Given the description of an element on the screen output the (x, y) to click on. 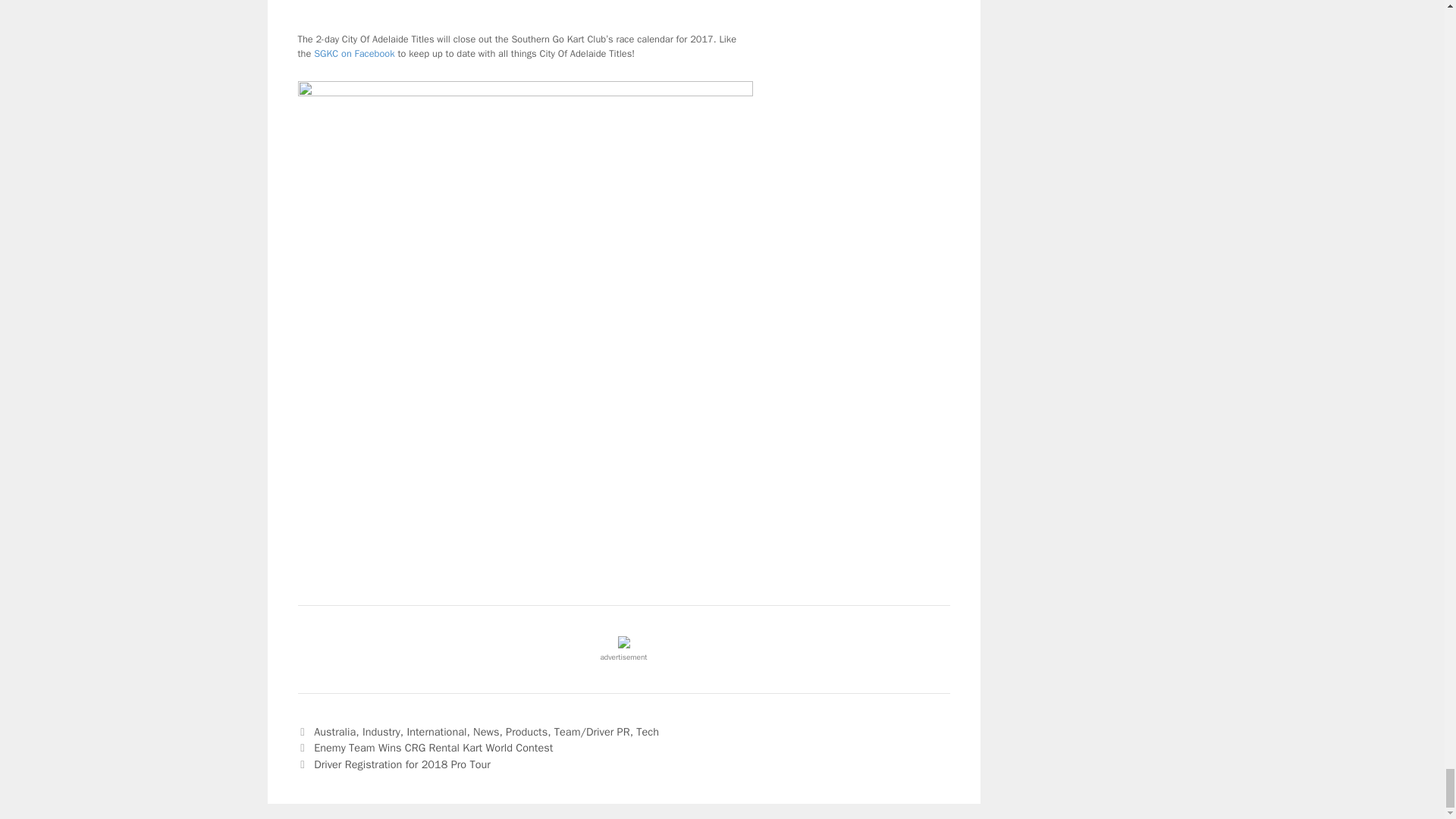
International (435, 731)
Industry (381, 731)
Tech (647, 731)
News (486, 731)
Products (526, 731)
SGKC on Facebook (354, 53)
Australia (334, 731)
